Given the description of an element on the screen output the (x, y) to click on. 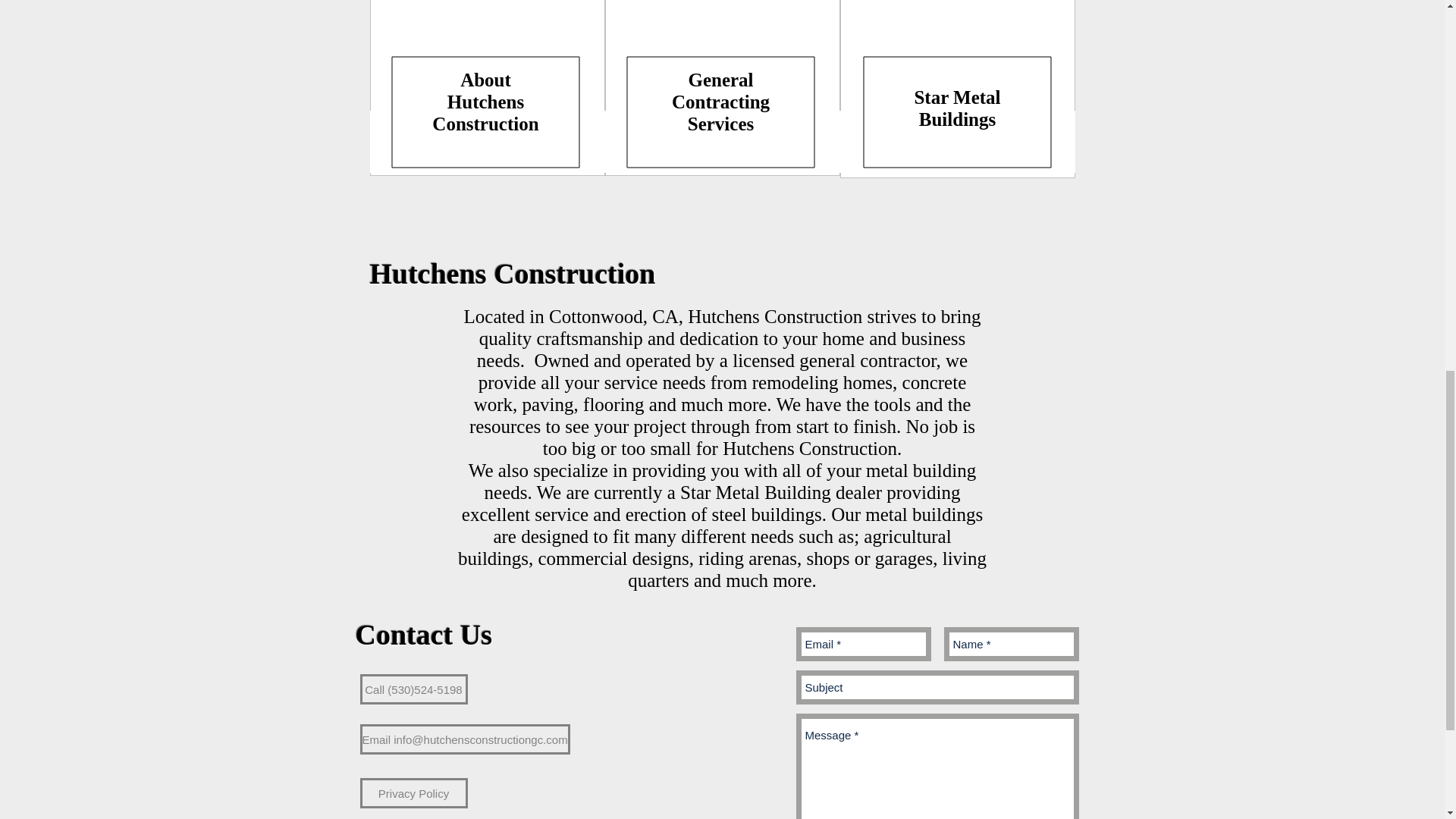
General Contracting (720, 90)
Star Metal Buildings (957, 107)
Privacy Policy (413, 793)
About (485, 79)
